Given the description of an element on the screen output the (x, y) to click on. 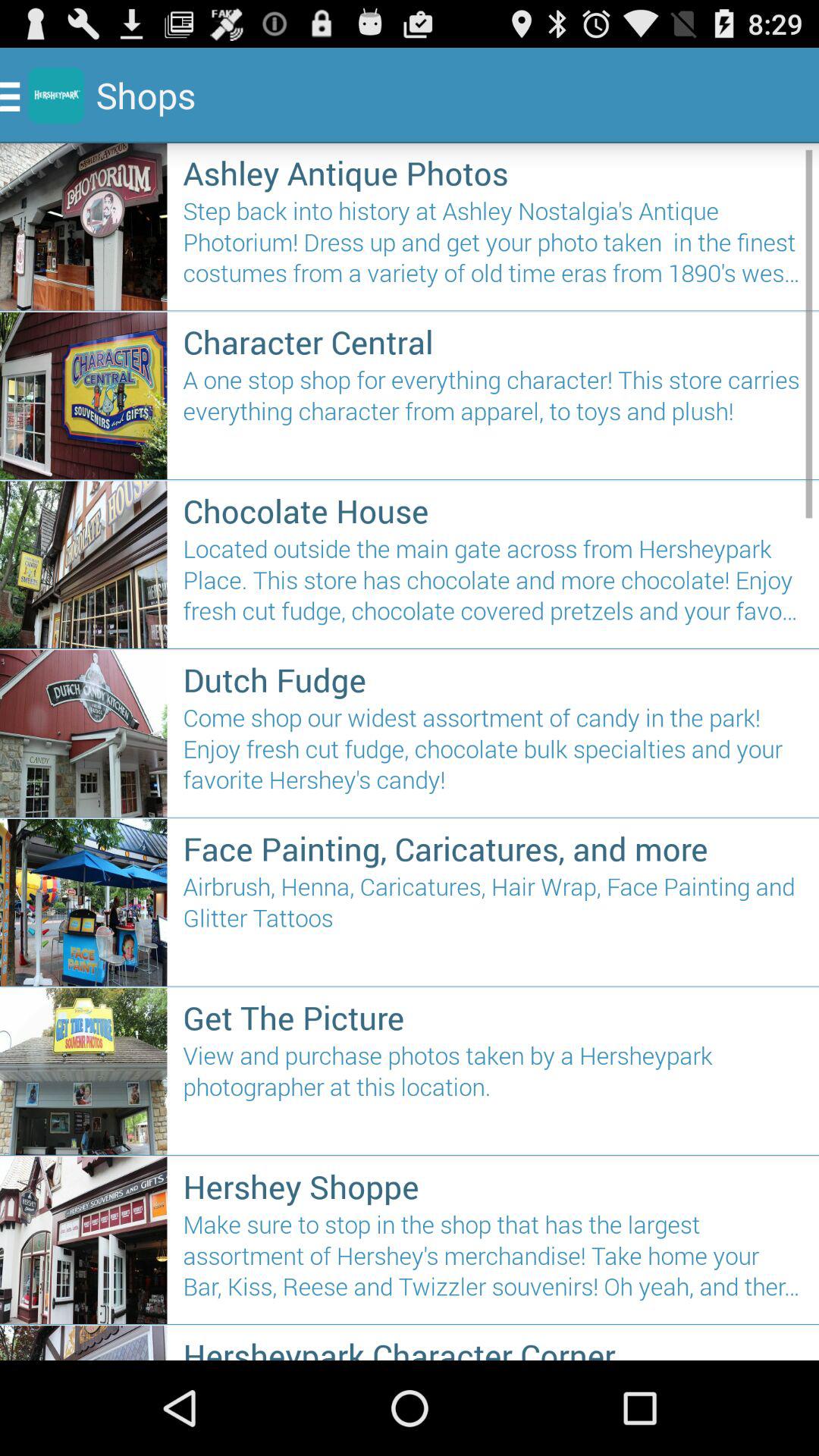
select make sure to (493, 1262)
